Given the description of an element on the screen output the (x, y) to click on. 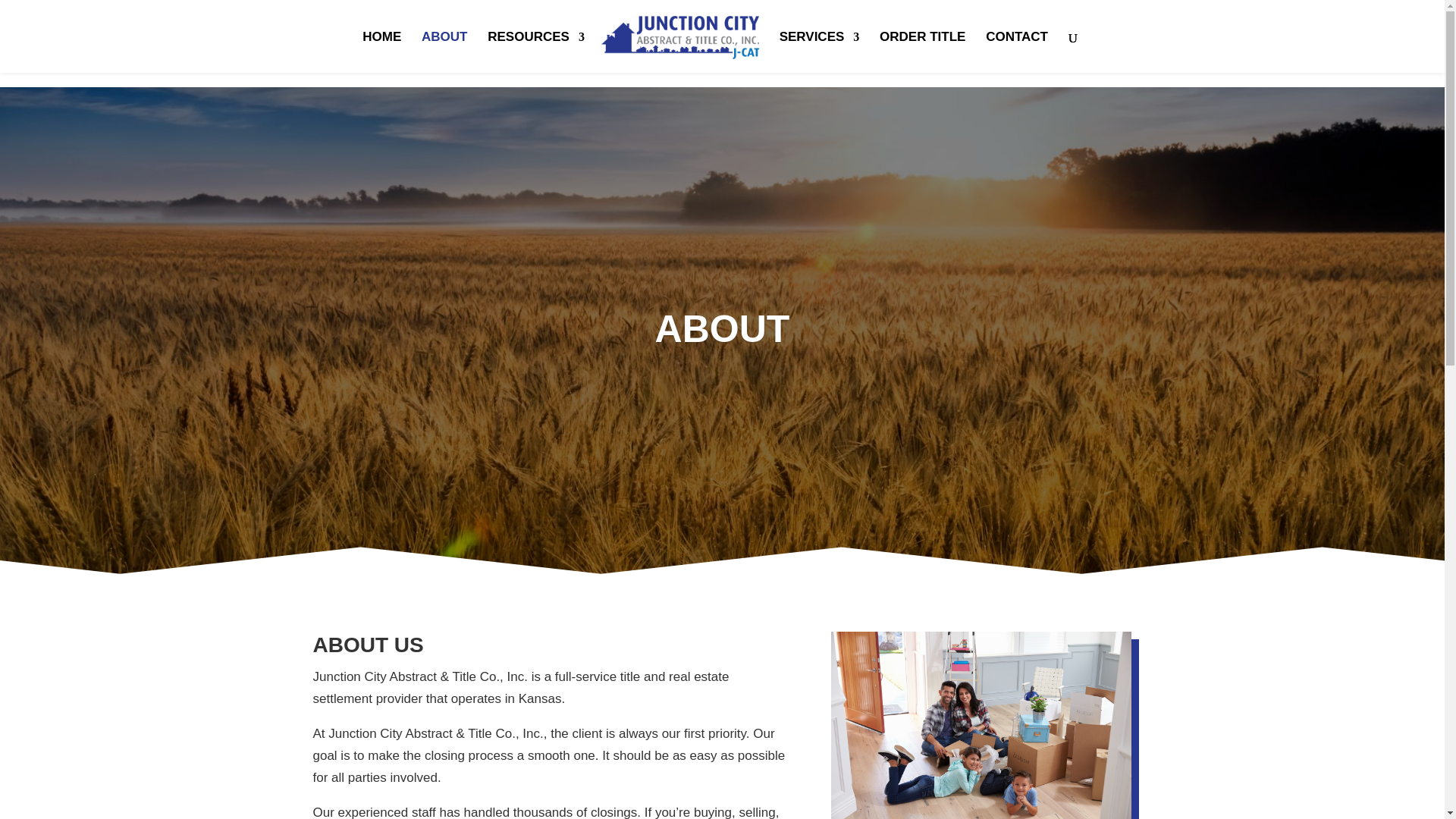
ABOUT (444, 12)
Portrait Of Hispanic Family Moving Into New Home (981, 725)
RESOURCES (536, 18)
CONTACT (1016, 51)
SERVICES (819, 47)
HOME (381, 6)
ORDER TITLE (922, 51)
